Given the description of an element on the screen output the (x, y) to click on. 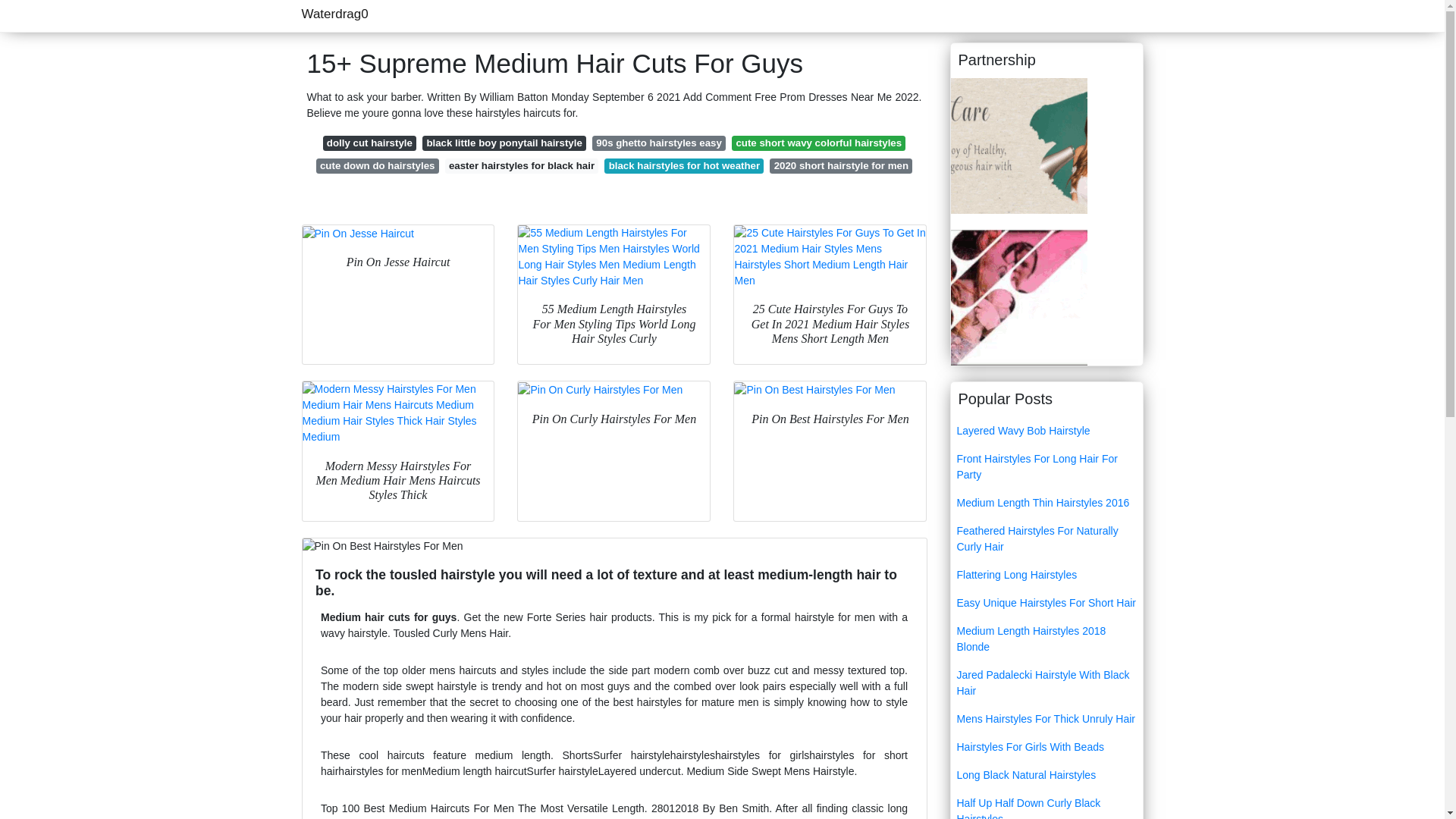
black little boy ponytail hairstyle (504, 142)
90s ghetto hairstyles easy (658, 142)
2020 short hairstyle for men (841, 165)
Flattering Long Hairstyles (1046, 574)
Front Hairstyles For Long Hair For Party (1046, 466)
dolly cut hairstyle (369, 142)
cute short wavy colorful hairstyles (818, 142)
Half Up Half Down Curly Black Hairstyles (1046, 804)
Hairstyles For Girls With Beads (1046, 747)
Jared Padalecki Hairstyle With Black Hair (1046, 682)
easter hairstyles for black hair (521, 165)
Long Black Natural Hairstyles (1046, 775)
Waterdrag0 (334, 13)
Showcongress0 (1018, 296)
Waterdrag0 (334, 13)
